Given the description of an element on the screen output the (x, y) to click on. 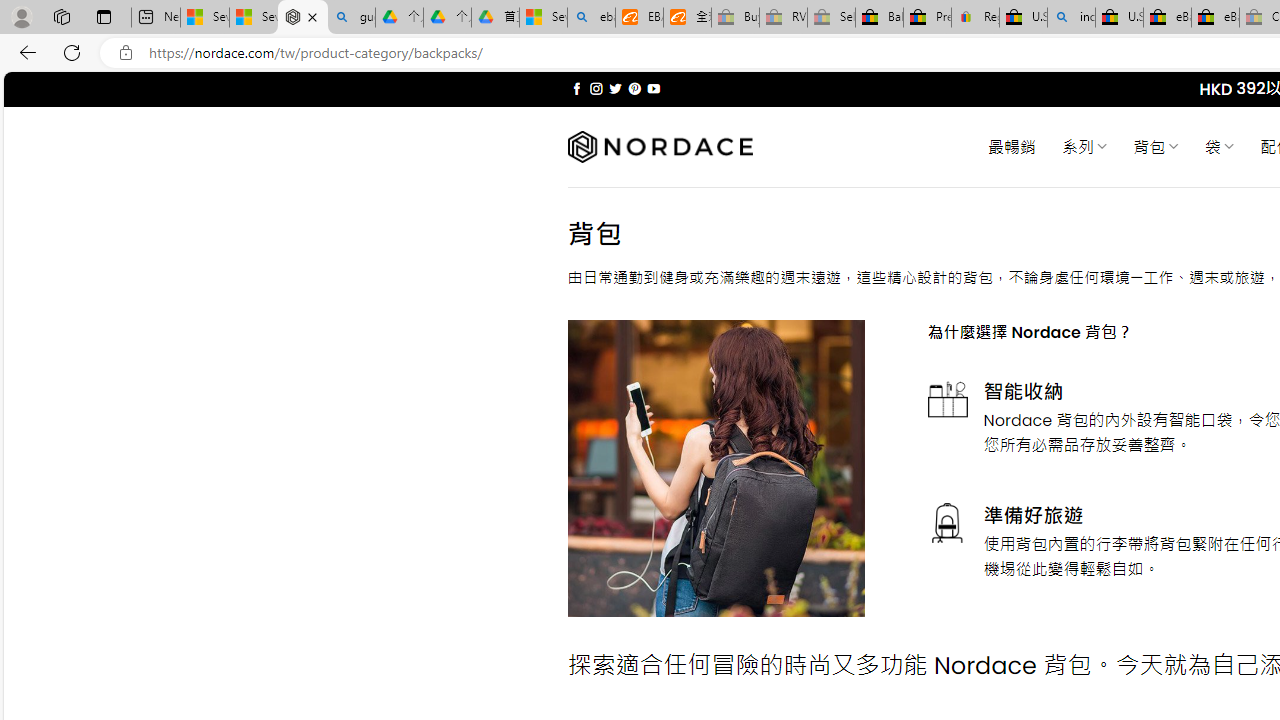
Follow on Instagram (596, 88)
Follow on Twitter (615, 88)
Press Room - eBay Inc. (927, 17)
Buy Auto Parts & Accessories | eBay - Sleeping (735, 17)
including - Search (1071, 17)
U.S. State Privacy Disclosures - eBay Inc. (1119, 17)
